Given the description of an element on the screen output the (x, y) to click on. 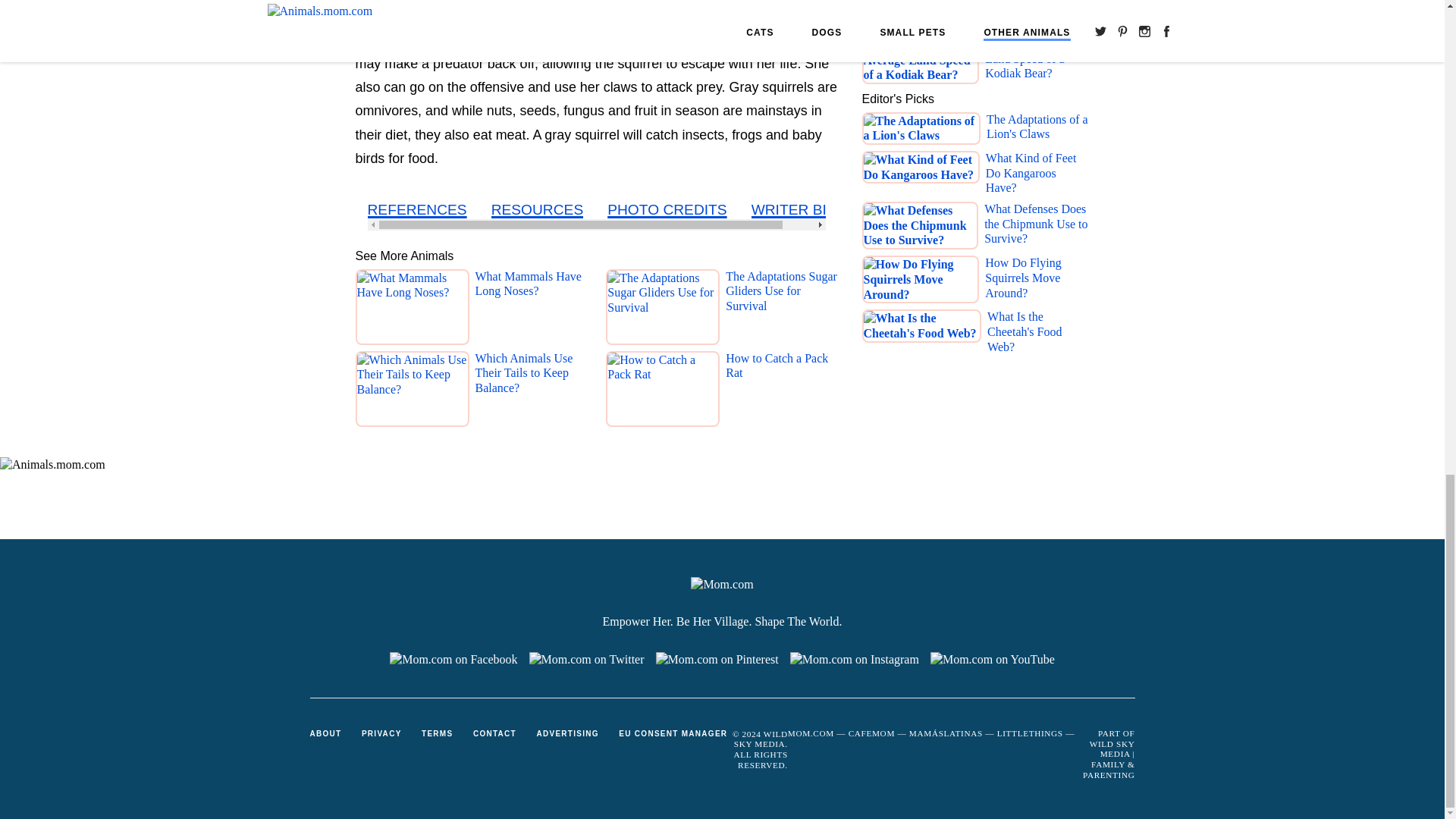
How to Catch a Pack Rat (781, 392)
The Adaptations Sugar Gliders Use for Survival (781, 310)
What Mammals Have Long Noses? (530, 310)
Which Animals Use Their Tails to Keep Balance? (530, 392)
